Given the description of an element on the screen output the (x, y) to click on. 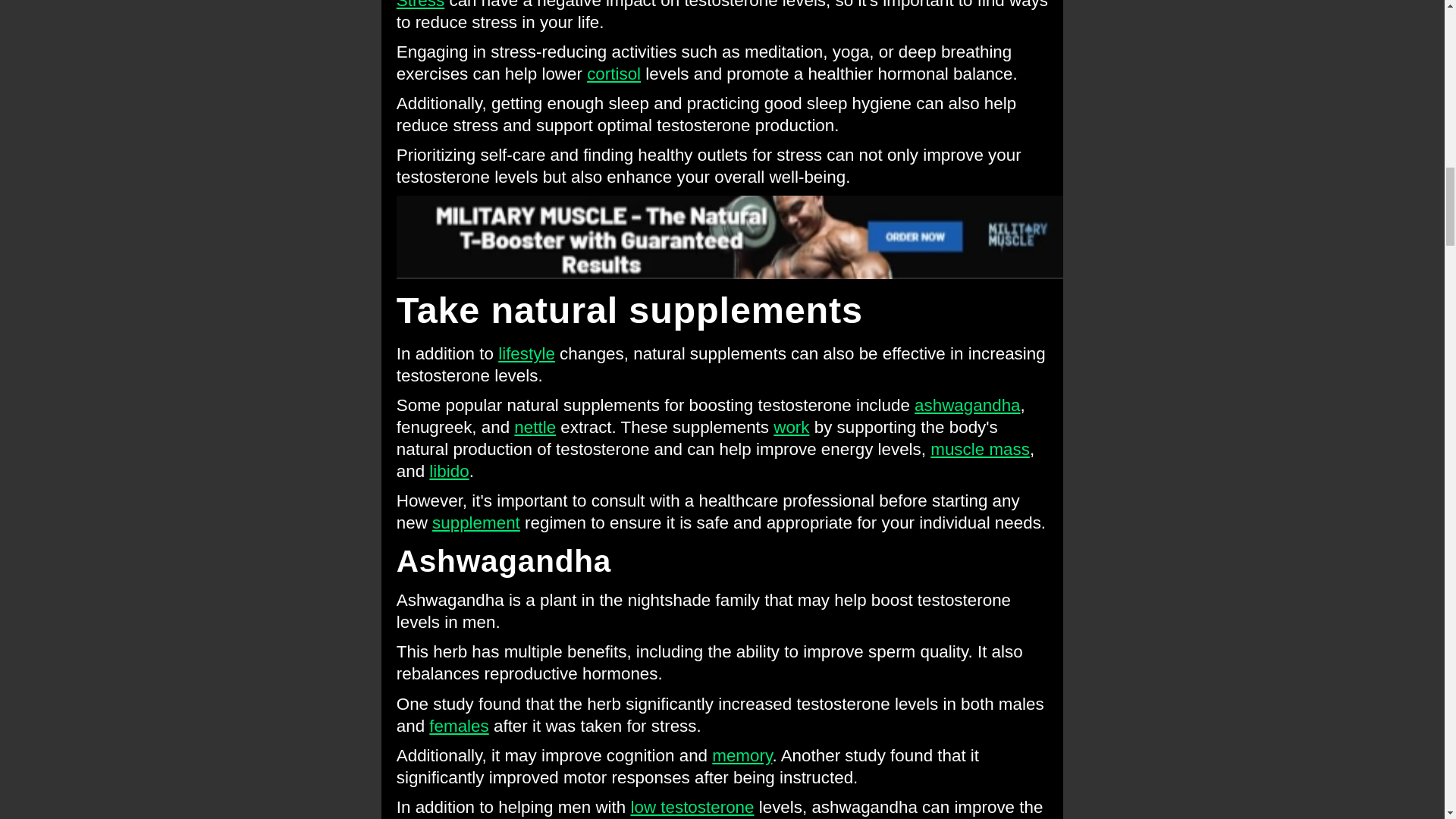
Stress (420, 4)
